Given the description of an element on the screen output the (x, y) to click on. 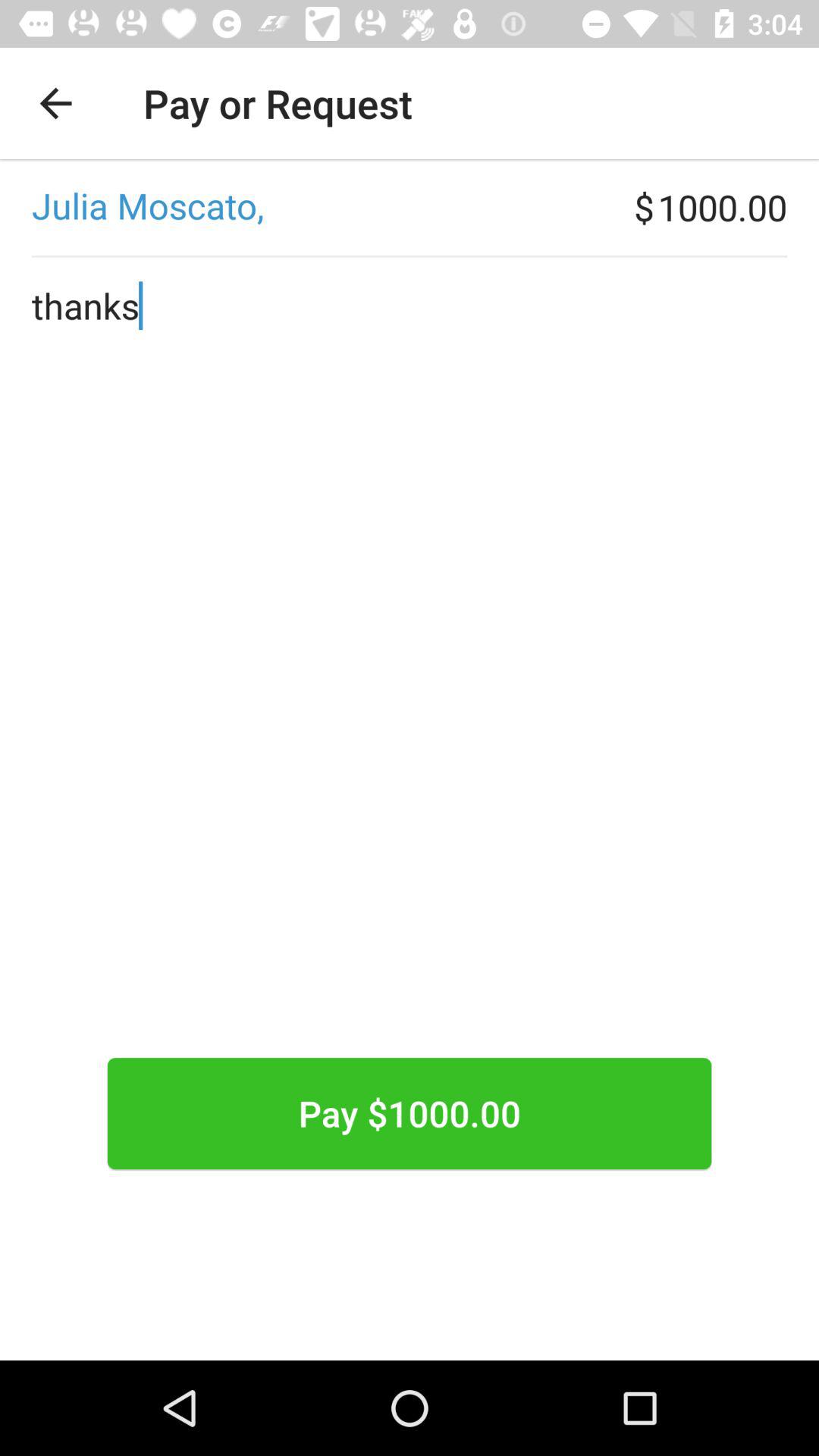
tap icon next to $ (317, 207)
